Given the description of an element on the screen output the (x, y) to click on. 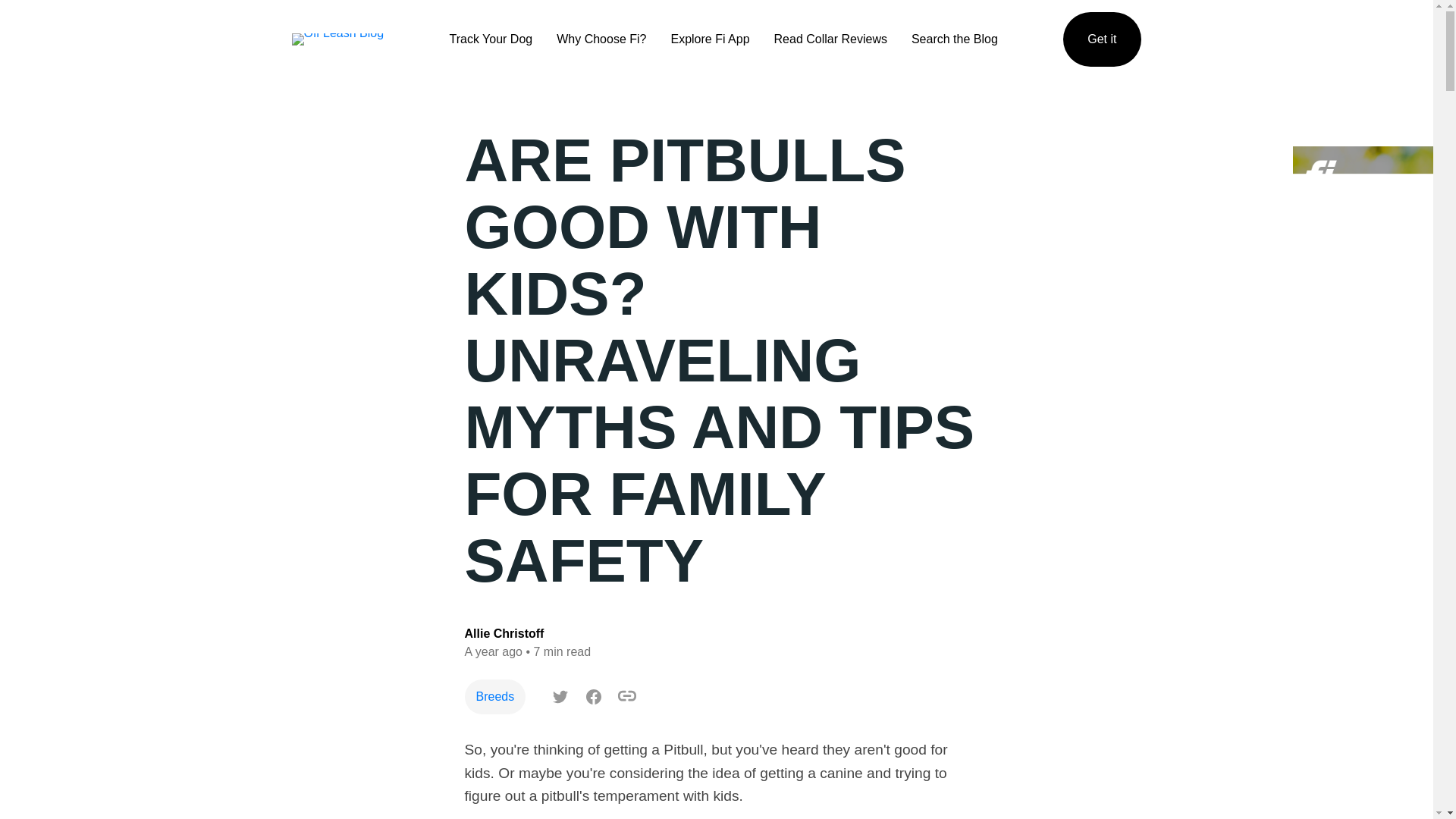
Track Your Dog (490, 39)
Read Collar Reviews (830, 39)
Explore Fi App (709, 39)
Search the Blog (954, 39)
Why Choose Fi? (601, 39)
Get it (1101, 39)
Breeds (494, 696)
